Given the description of an element on the screen output the (x, y) to click on. 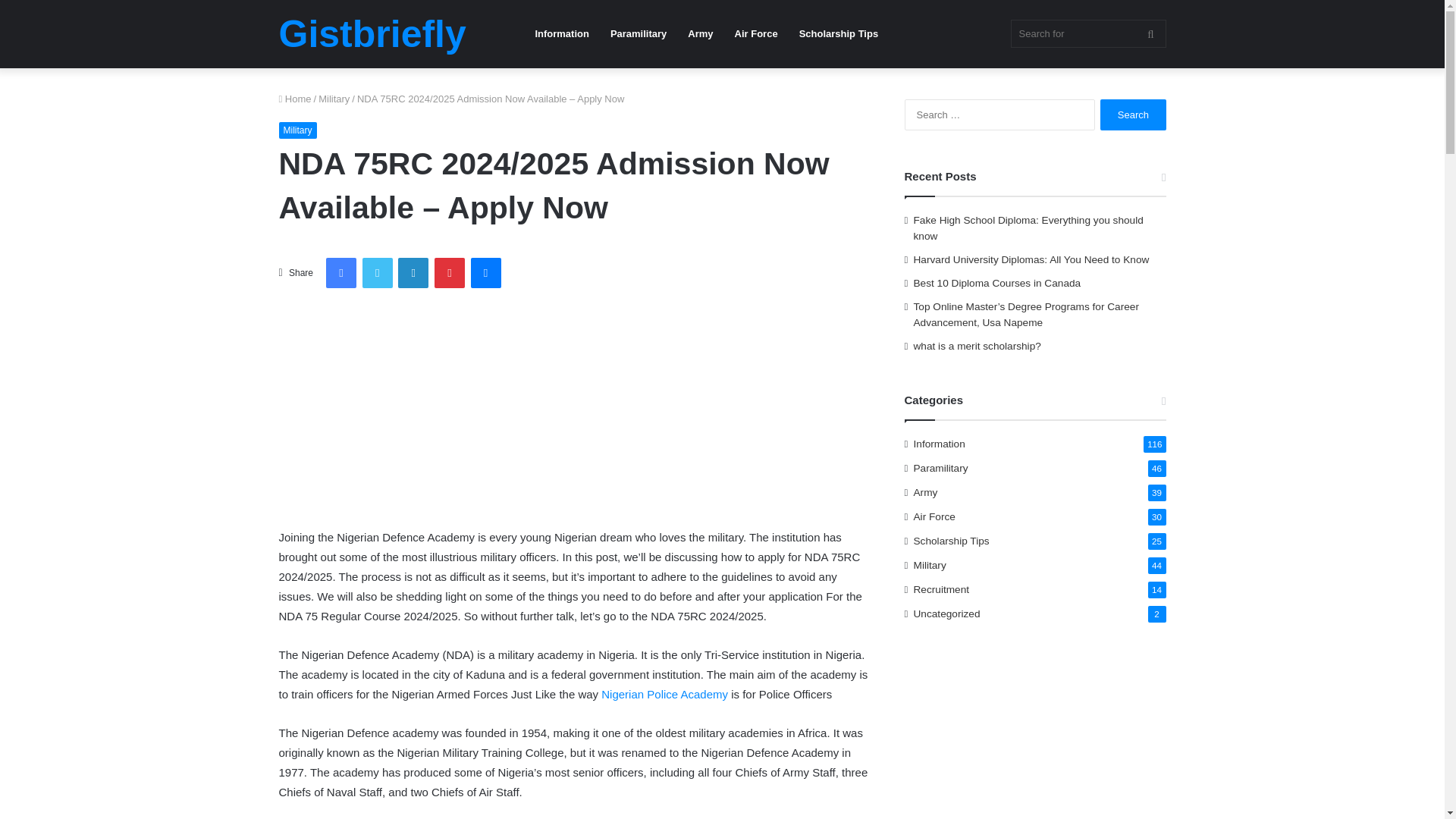
Twitter (377, 272)
Messenger (485, 272)
LinkedIn (412, 272)
Search for (1088, 33)
Home (295, 98)
Scholarship Tips (839, 33)
Nigerian Police Academy (664, 694)
Information (561, 33)
LinkedIn (412, 272)
Messenger (485, 272)
Search (1133, 114)
Paramilitary (638, 33)
Pinterest (448, 272)
Gistbriefly (372, 34)
Gistbriefly (372, 34)
